Given the description of an element on the screen output the (x, y) to click on. 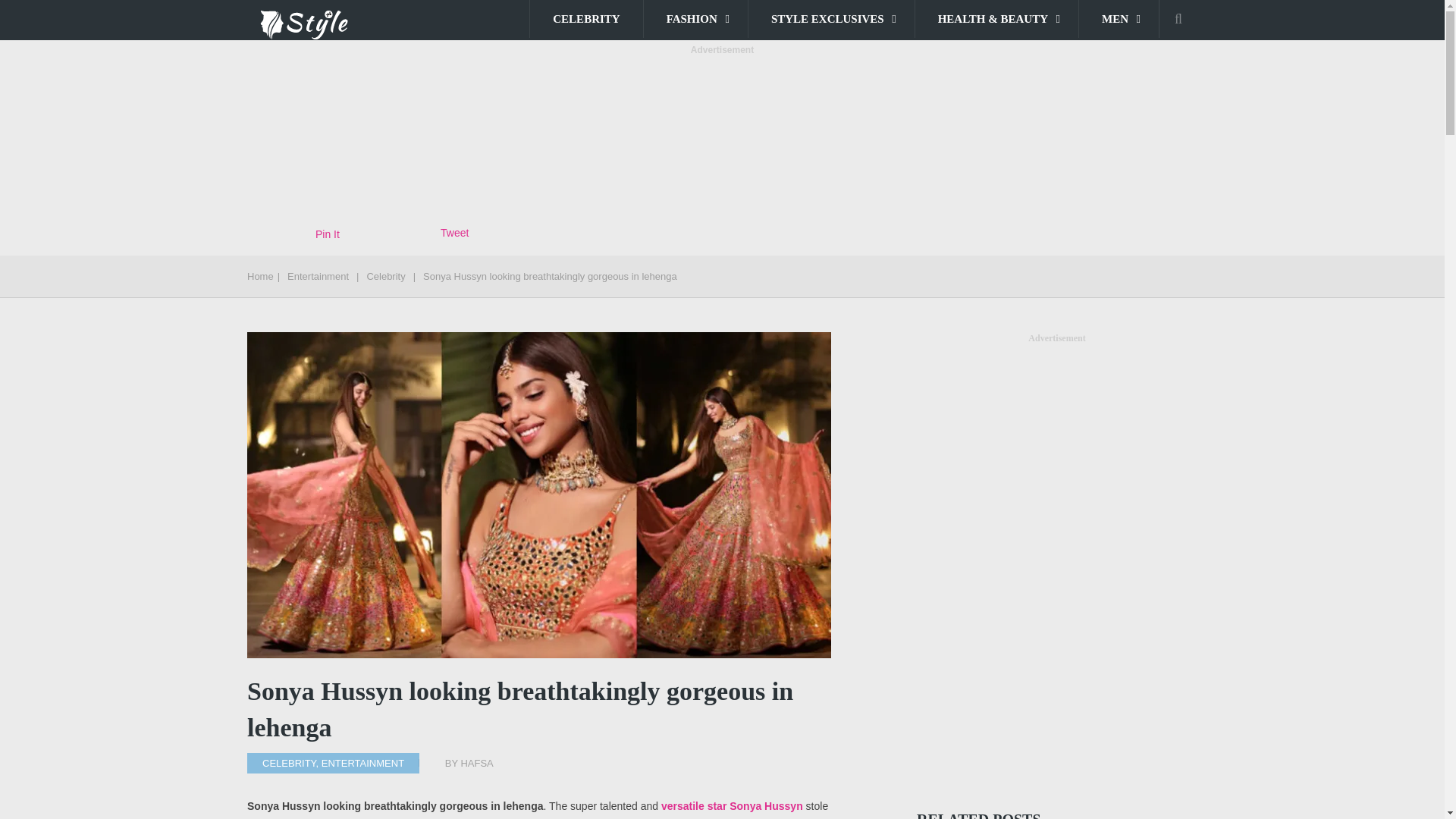
CELEBRITY (585, 18)
MEN (1118, 18)
STYLE EXCLUSIVES (831, 18)
FASHION (695, 18)
